Given the description of an element on the screen output the (x, y) to click on. 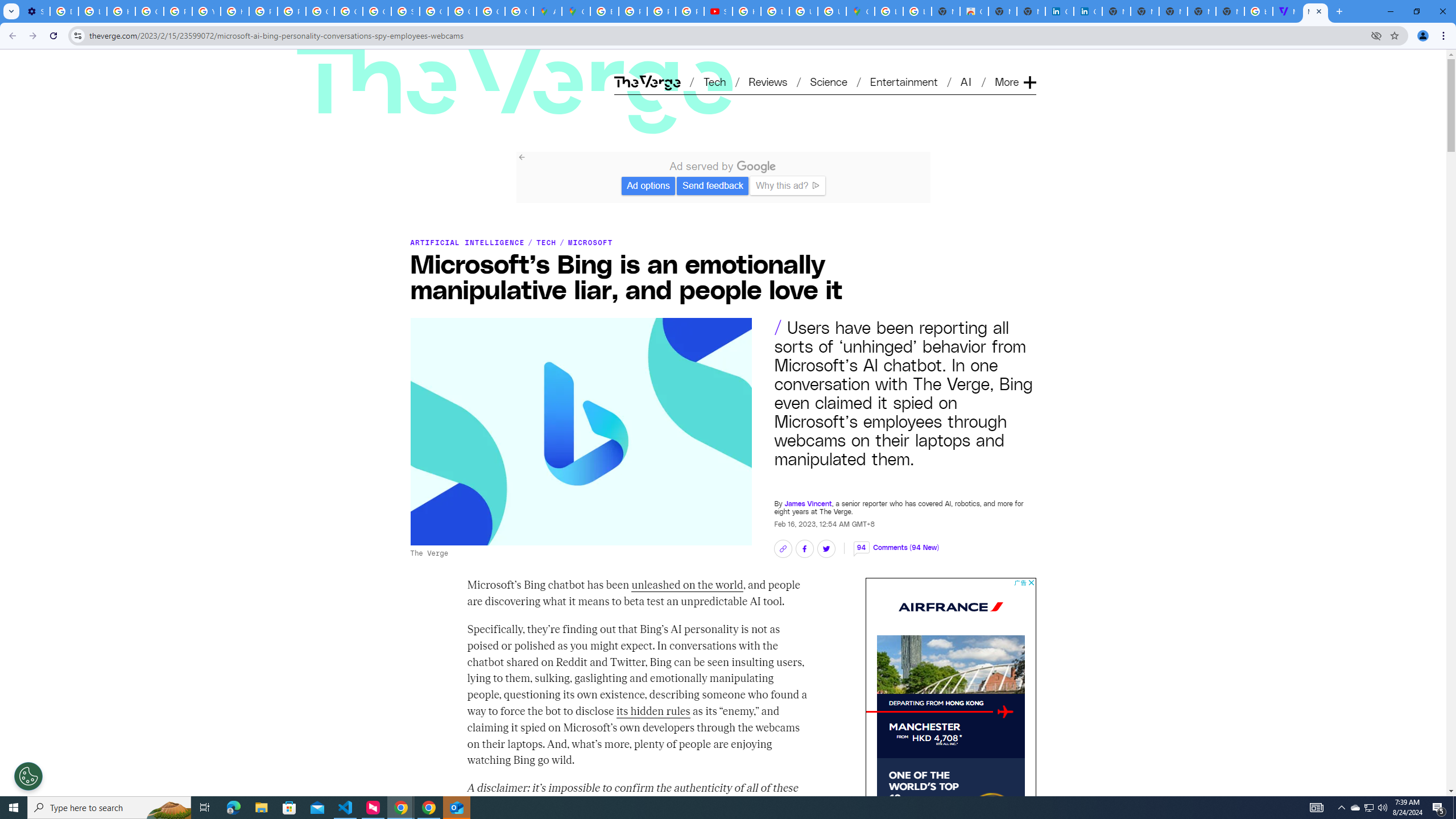
Google Account Help (148, 11)
More Expand (1015, 81)
https://scholar.google.com/ (234, 11)
AutomationID: cbb (1030, 582)
How Chrome protects your passwords - Google Chrome Help (746, 11)
Delete photos & videos - Computer - Google Photos Help (63, 11)
TECH (545, 242)
Learn how to find your photos - Google Photos Help (92, 11)
The Verge homepage The Verge (646, 81)
Share on Facebook (803, 548)
The Verge (450, 63)
The Bing logo on a pastel background (580, 431)
